Given the description of an element on the screen output the (x, y) to click on. 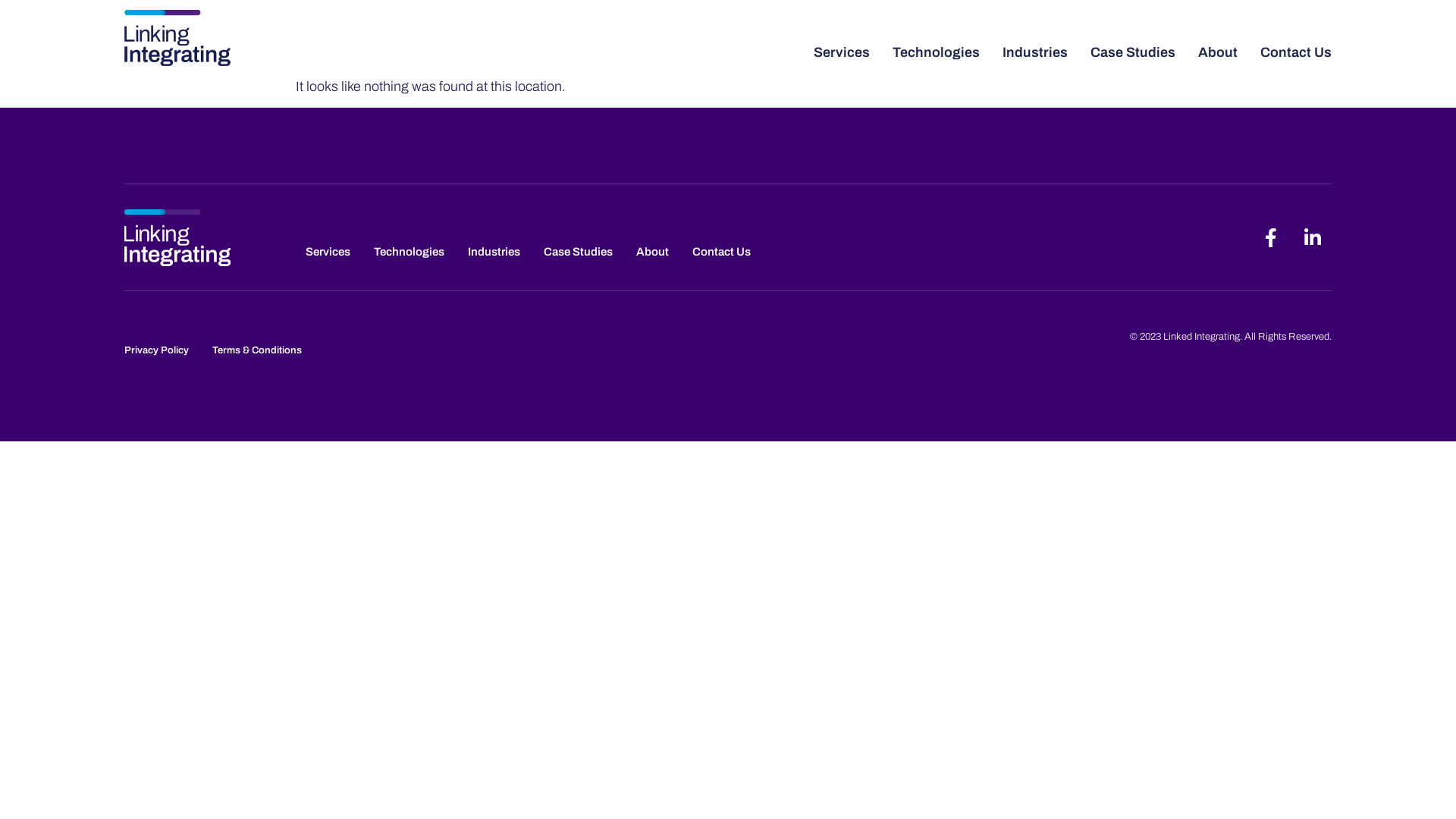
Services Element type: text (327, 251)
Industries Element type: text (493, 251)
Technologies Element type: text (935, 51)
Contact Us Element type: text (1295, 51)
Industries Element type: text (1034, 51)
Privacy Policy Element type: text (156, 350)
Case Studies Element type: text (1132, 51)
Terms & Conditions Element type: text (256, 350)
Contact Us Element type: text (721, 251)
Case Studies Element type: text (577, 251)
Services Element type: text (841, 51)
About Element type: text (652, 251)
Technologies Element type: text (408, 251)
About Element type: text (1217, 51)
